Given the description of an element on the screen output the (x, y) to click on. 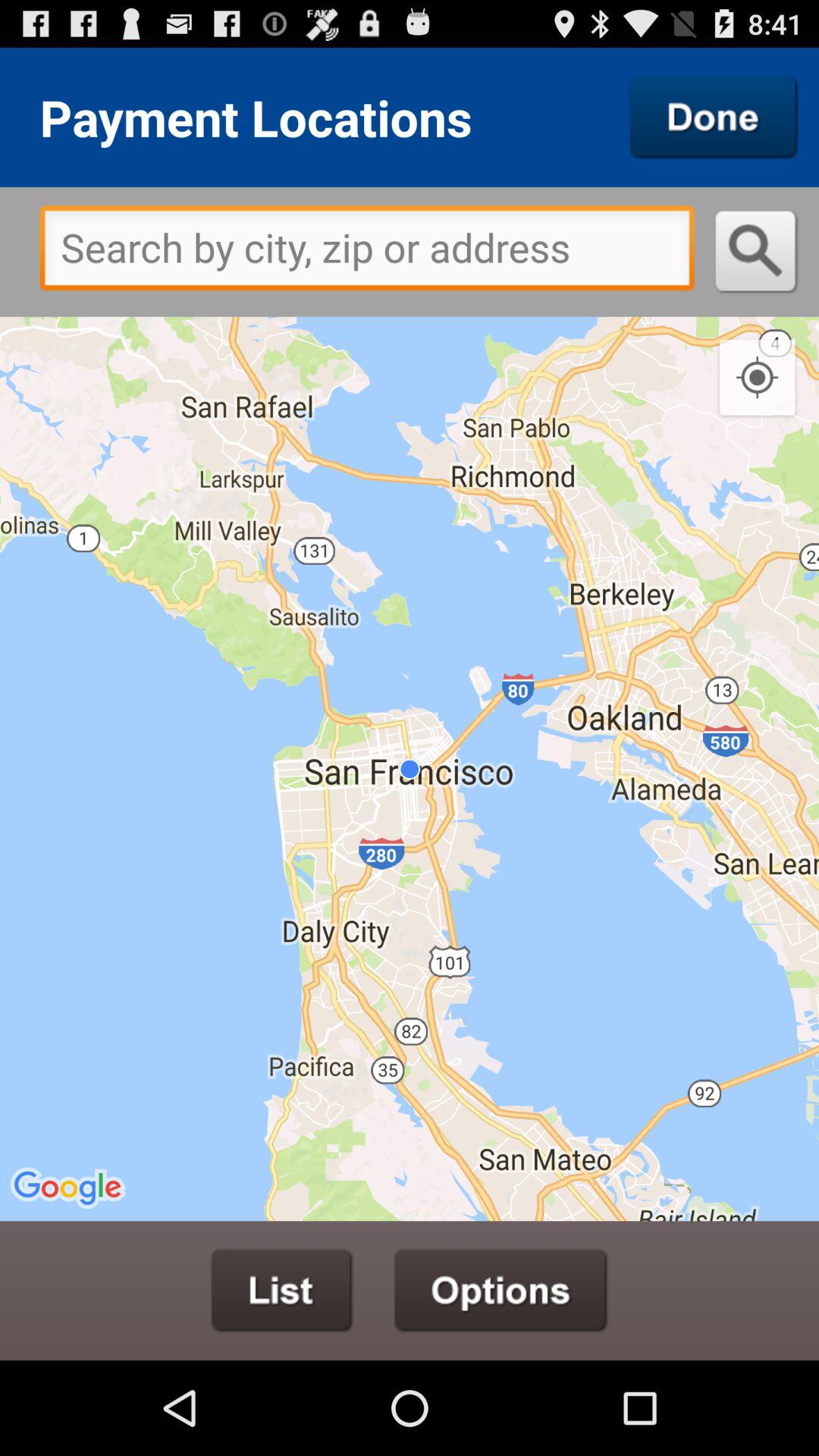
launch icon at the center (409, 768)
